Given the description of an element on the screen output the (x, y) to click on. 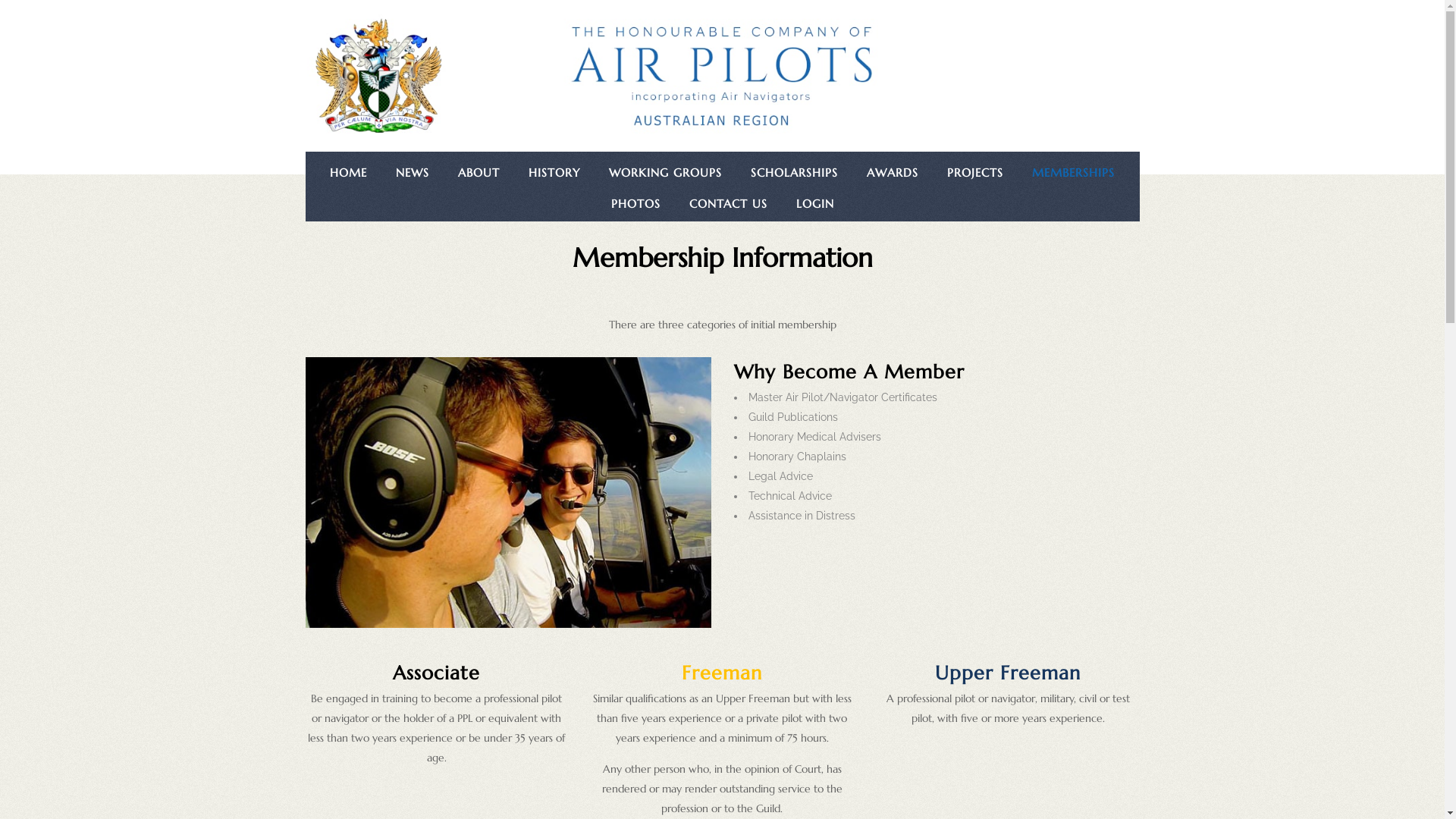
WORKING GROUPS Element type: text (665, 172)
PHOTOS Element type: text (634, 203)
HOME Element type: text (347, 172)
AWARDS Element type: text (892, 172)
LOGIN Element type: text (814, 203)
CONTACT US Element type: text (728, 203)
ABOUT Element type: text (478, 172)
HISTORY Element type: text (554, 172)
SCHOLARSHIPS Element type: text (793, 172)
PROJECTS Element type: text (975, 172)
MEMBERSHIPS Element type: text (1073, 172)
airpilots-HCAPA Young Pilots Element type: hover (507, 492)
NEWS Element type: text (412, 172)
